Given the description of an element on the screen output the (x, y) to click on. 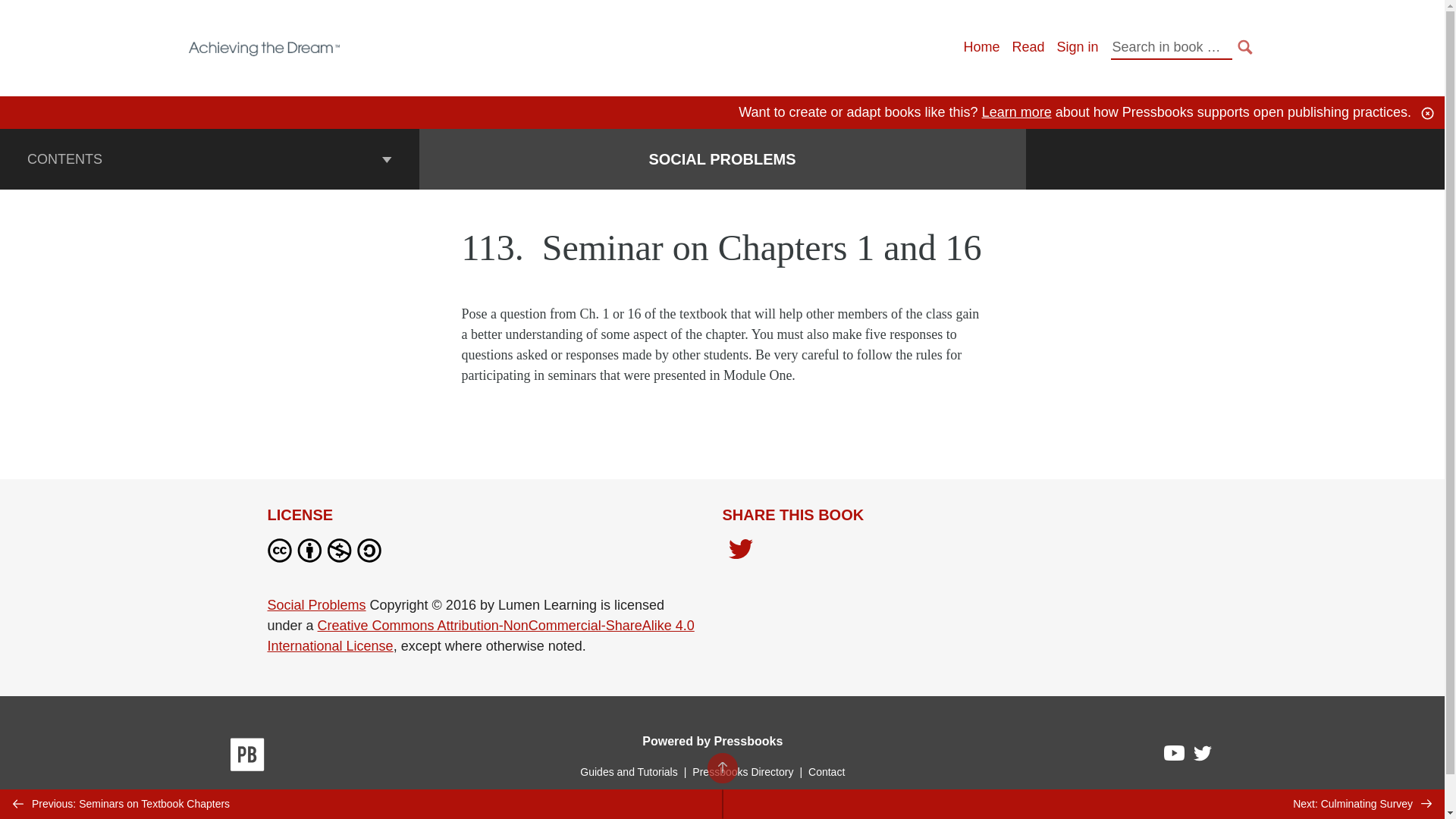
CONTENTS (209, 158)
Home (980, 46)
Contact (826, 771)
Share on Twitter (740, 553)
BACK TO TOP (721, 767)
Share on Twitter (740, 550)
Previous: Seminars on Textbook Chapters (361, 804)
Powered by Pressbooks (712, 740)
SOCIAL PROBLEMS (720, 159)
Guides and Tutorials (627, 771)
Social Problems (315, 604)
Sign in (1077, 46)
Pressbooks Directory (742, 771)
Read (1027, 46)
